Given the description of an element on the screen output the (x, y) to click on. 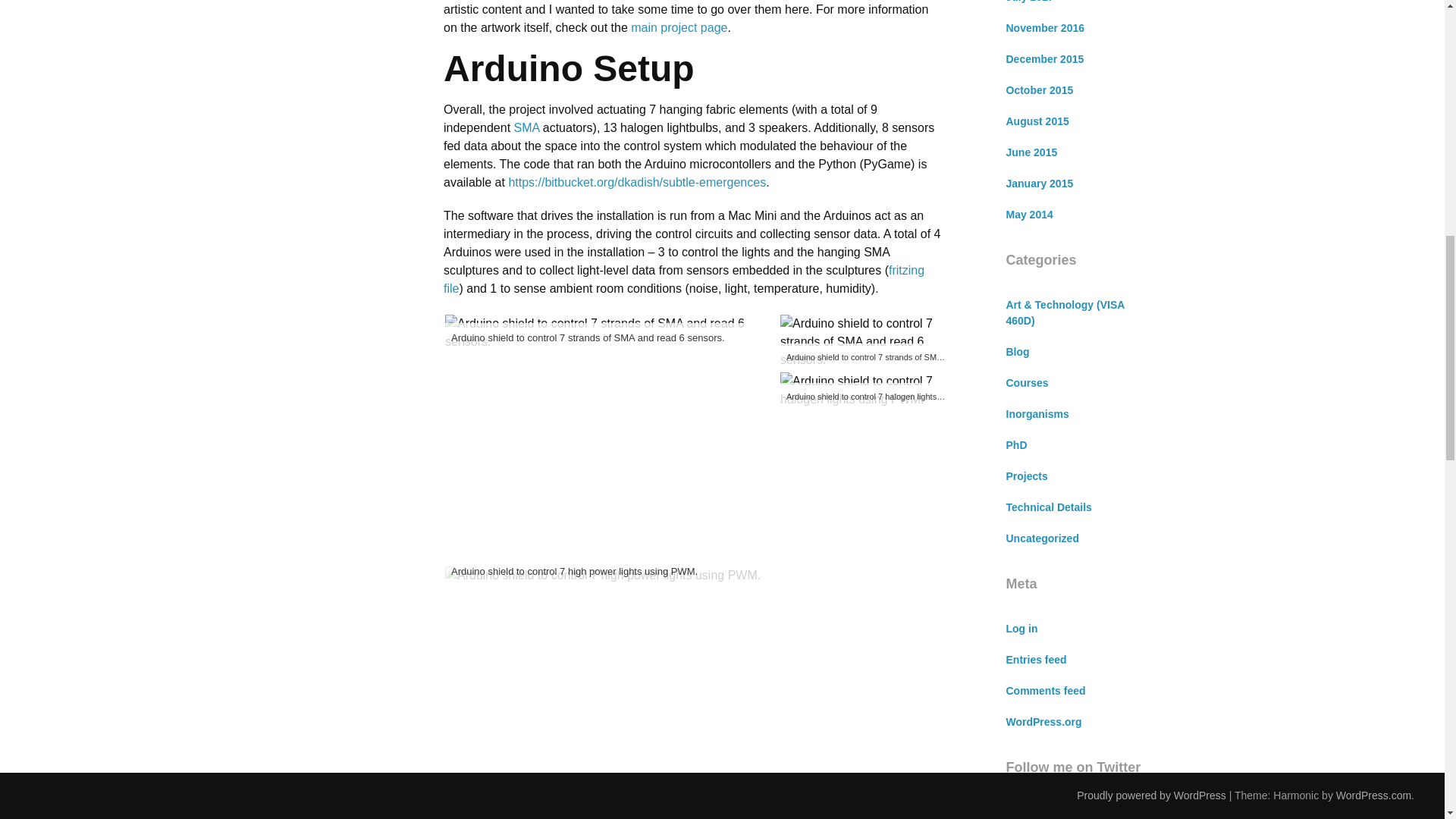
Arduino high-power control shield (602, 575)
SMA (526, 127)
Arduino high-power control and sensing shield (861, 341)
fritzing file (684, 278)
main project page (678, 27)
Arduino high-power control and sensing shield (611, 332)
Arduino high-power control shield (861, 390)
